Given the description of an element on the screen output the (x, y) to click on. 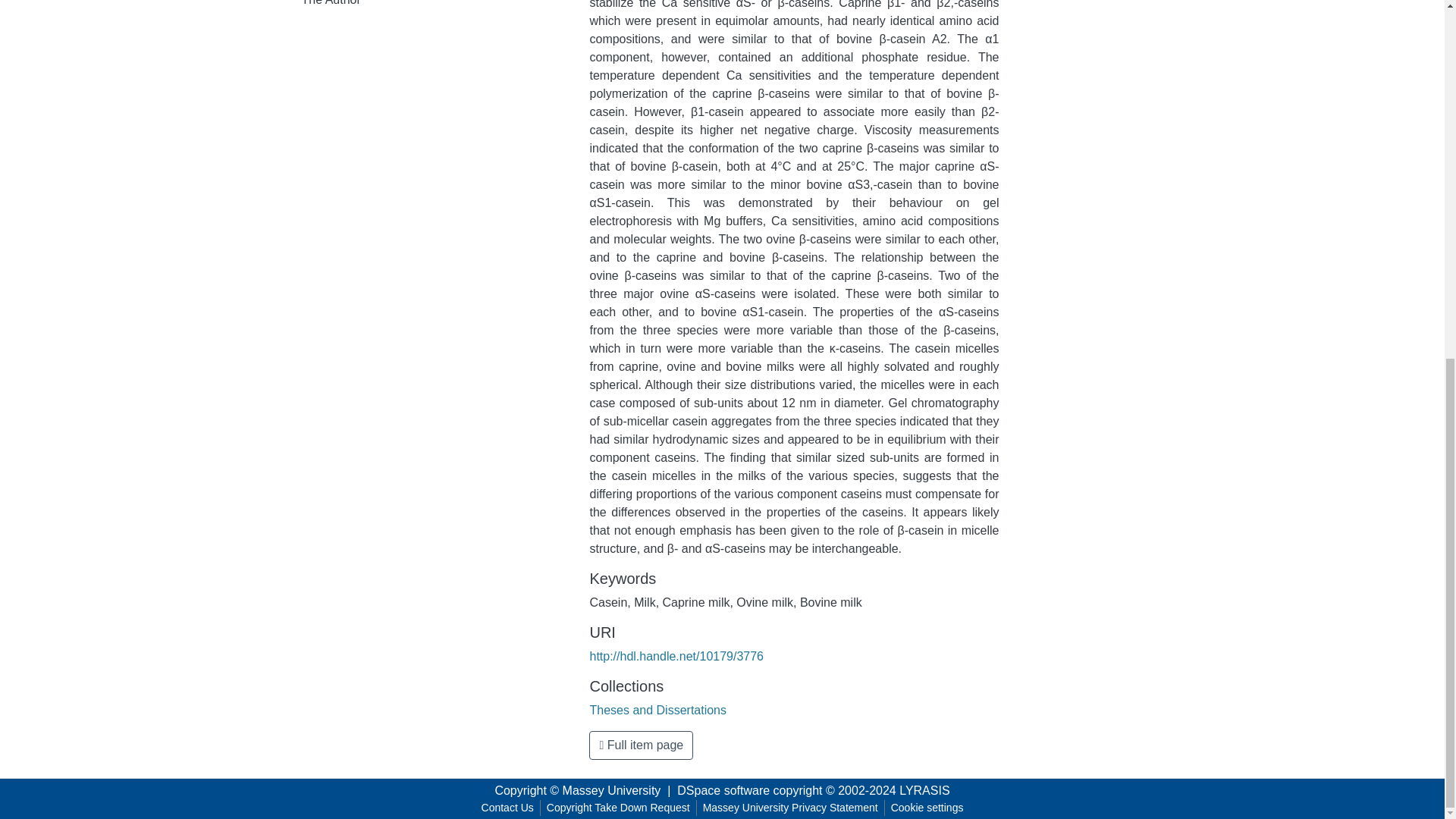
Contact Us (508, 807)
DSpace software (723, 789)
Theses and Dissertations (657, 709)
LYRASIS (924, 789)
Full item page (641, 745)
